Given the description of an element on the screen output the (x, y) to click on. 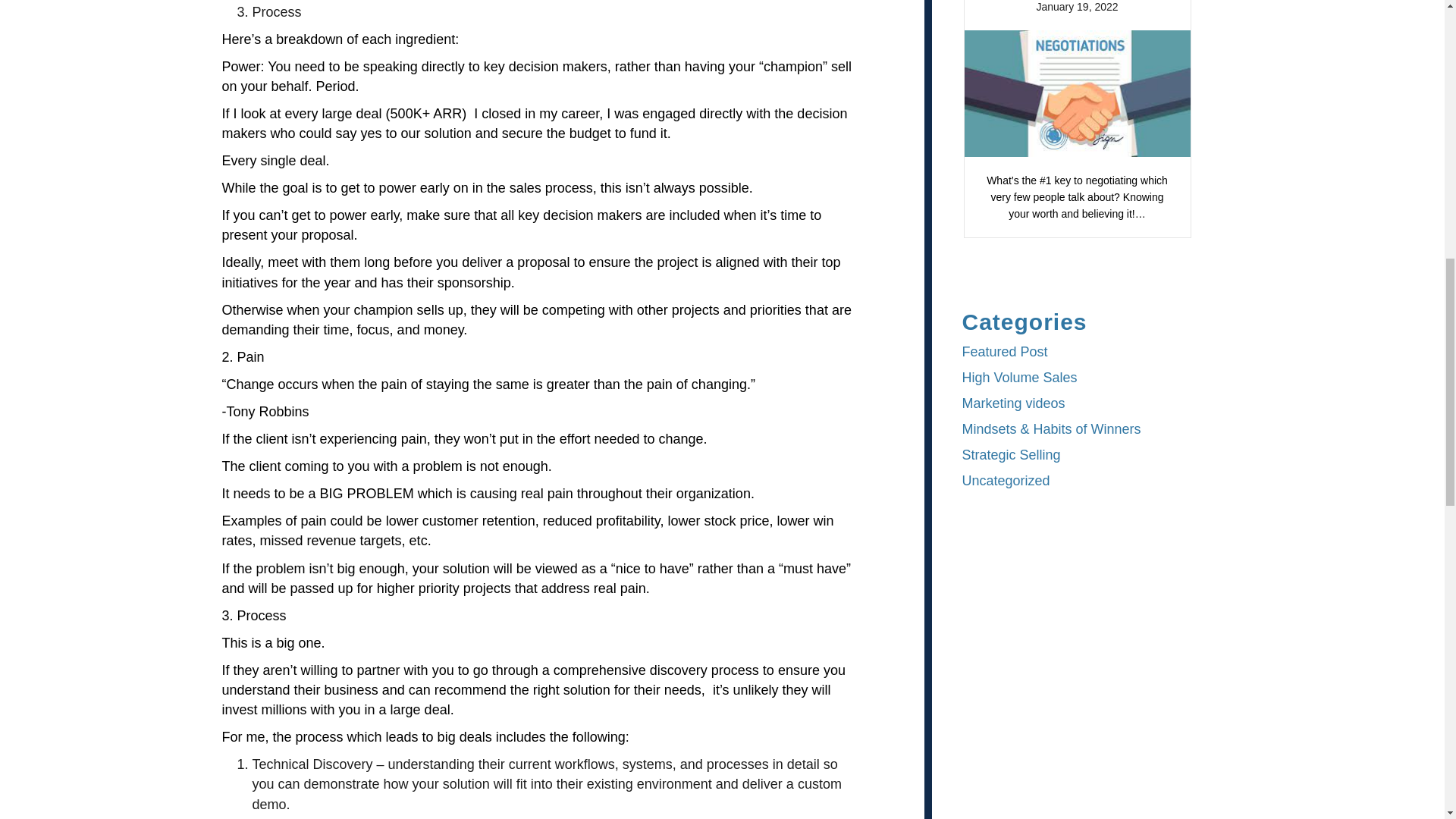
Featured Post (1003, 351)
Marketing videos (1012, 403)
Uncategorized (1004, 480)
High Volume Sales (1018, 377)
Strategic Selling (1009, 454)
